Given the description of an element on the screen output the (x, y) to click on. 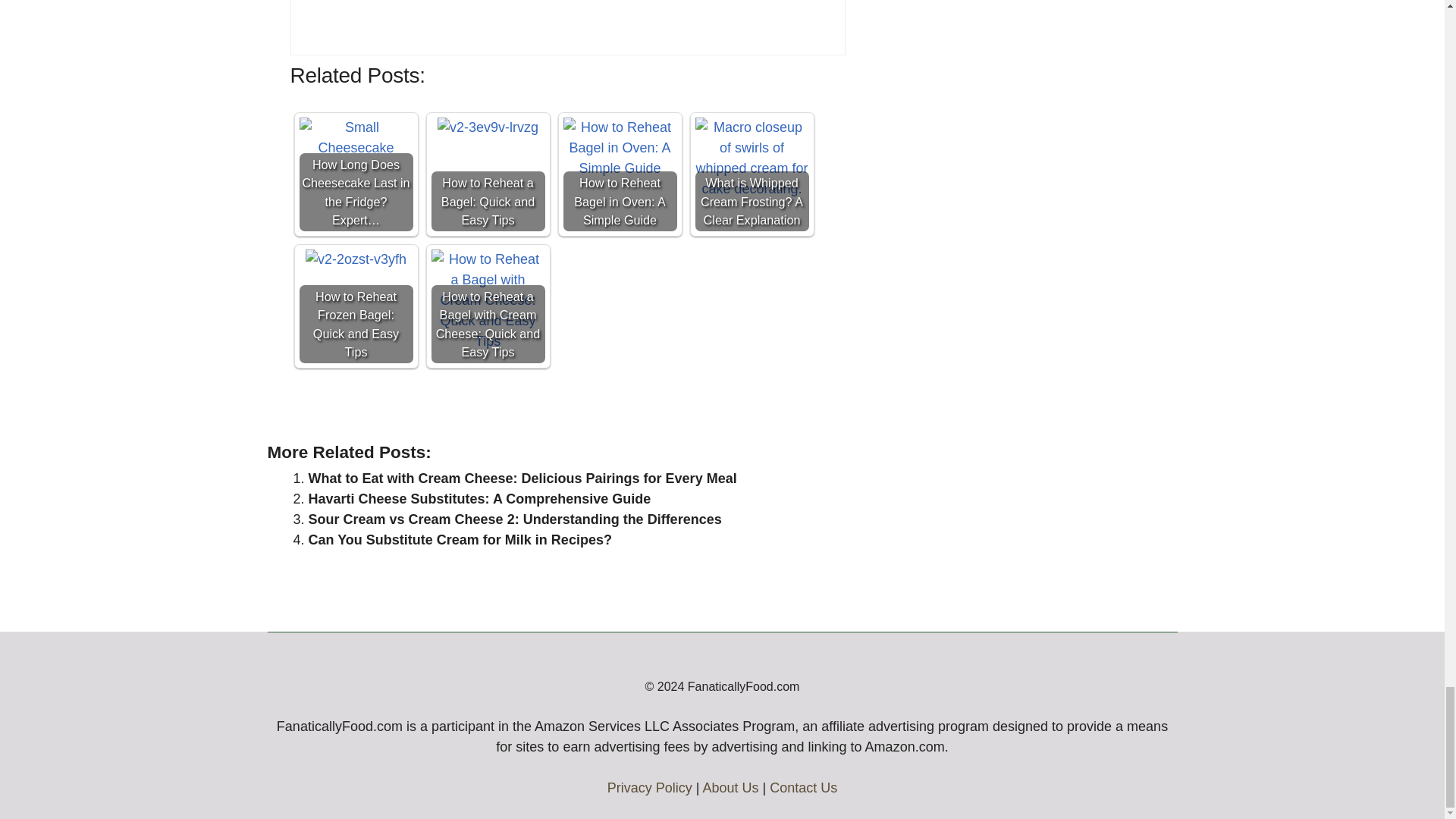
How to Reheat Frozen Bagel: Quick and Easy Tips (355, 259)
Can You Substitute Cream for Milk in Recipes? (459, 539)
How to Reheat Frozen Bagel: Quick and Easy Tips (355, 306)
About Us (729, 787)
How to Reheat a Bagel with Cream Cheese: Quick and Easy Tips (487, 300)
How to Reheat Bagel in Oven: A Simple Guide (619, 173)
Sour Cream vs Cream Cheese 2: Understanding the Differences (513, 519)
